Given the description of an element on the screen output the (x, y) to click on. 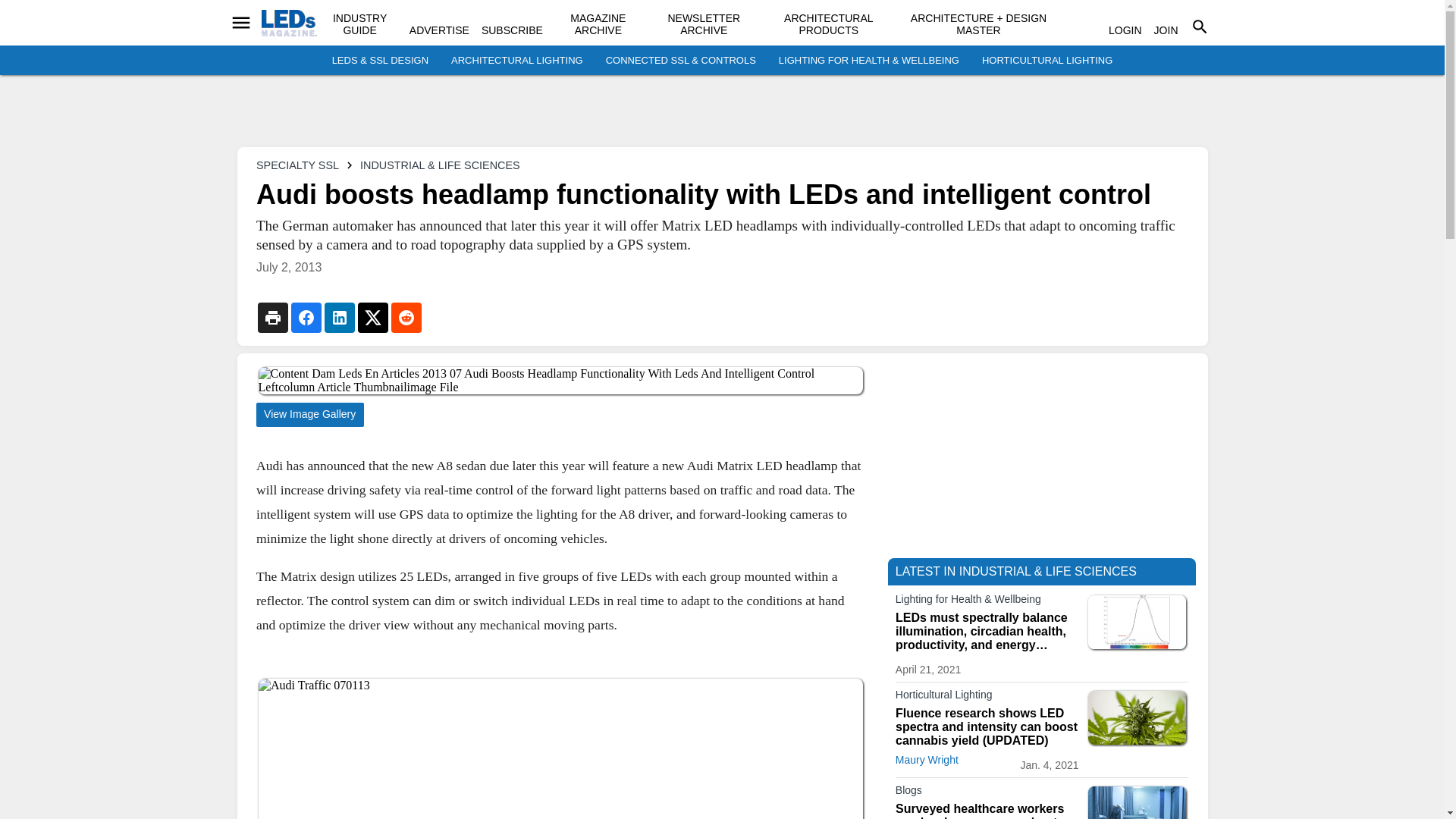
HORTICULTURAL LIGHTING (1046, 60)
INDUSTRY GUIDE (360, 24)
MAGAZINE ARCHIVE (598, 24)
JOIN (1165, 30)
ARCHITECTURAL LIGHTING (517, 60)
Audi Traffic 070113 (559, 748)
LOGIN (1124, 30)
ARCHITECTURAL PRODUCTS (828, 24)
